Given the description of an element on the screen output the (x, y) to click on. 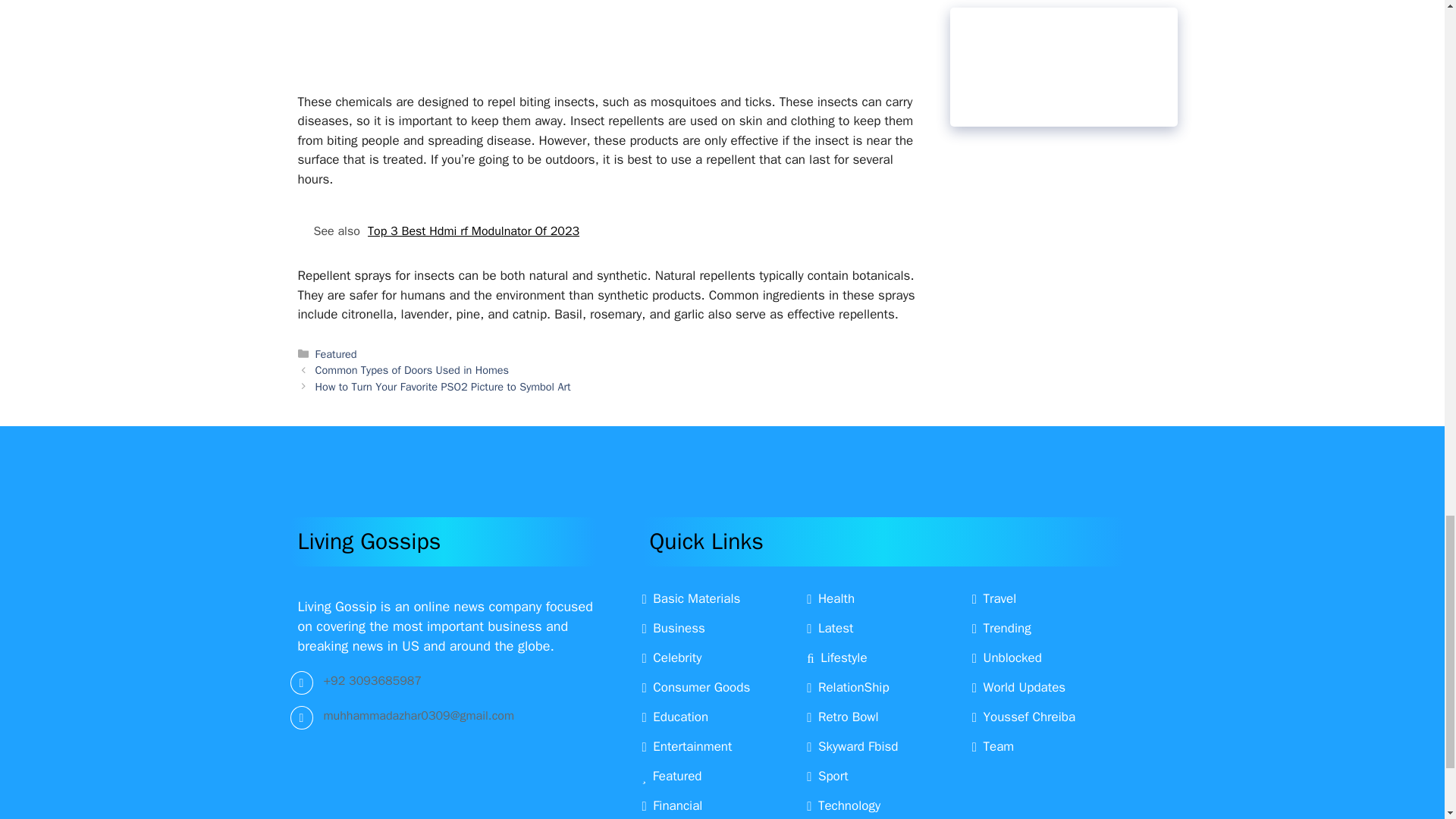
Entertainment (687, 746)
Lifestyle (836, 657)
Financial (671, 805)
How to Turn Your Favorite PSO2 Picture to Symbol Art (442, 386)
Health (830, 598)
Common Types of Doors Used in Homes (412, 369)
Education (674, 716)
Celebrity (671, 657)
Latest (829, 627)
Business (673, 627)
Featured (335, 354)
Consumer Goods (695, 687)
See also  Top 3 Best Hdmi rf Modulnator Of 2023 (607, 230)
Featured (671, 775)
Basic Materials (690, 598)
